Given the description of an element on the screen output the (x, y) to click on. 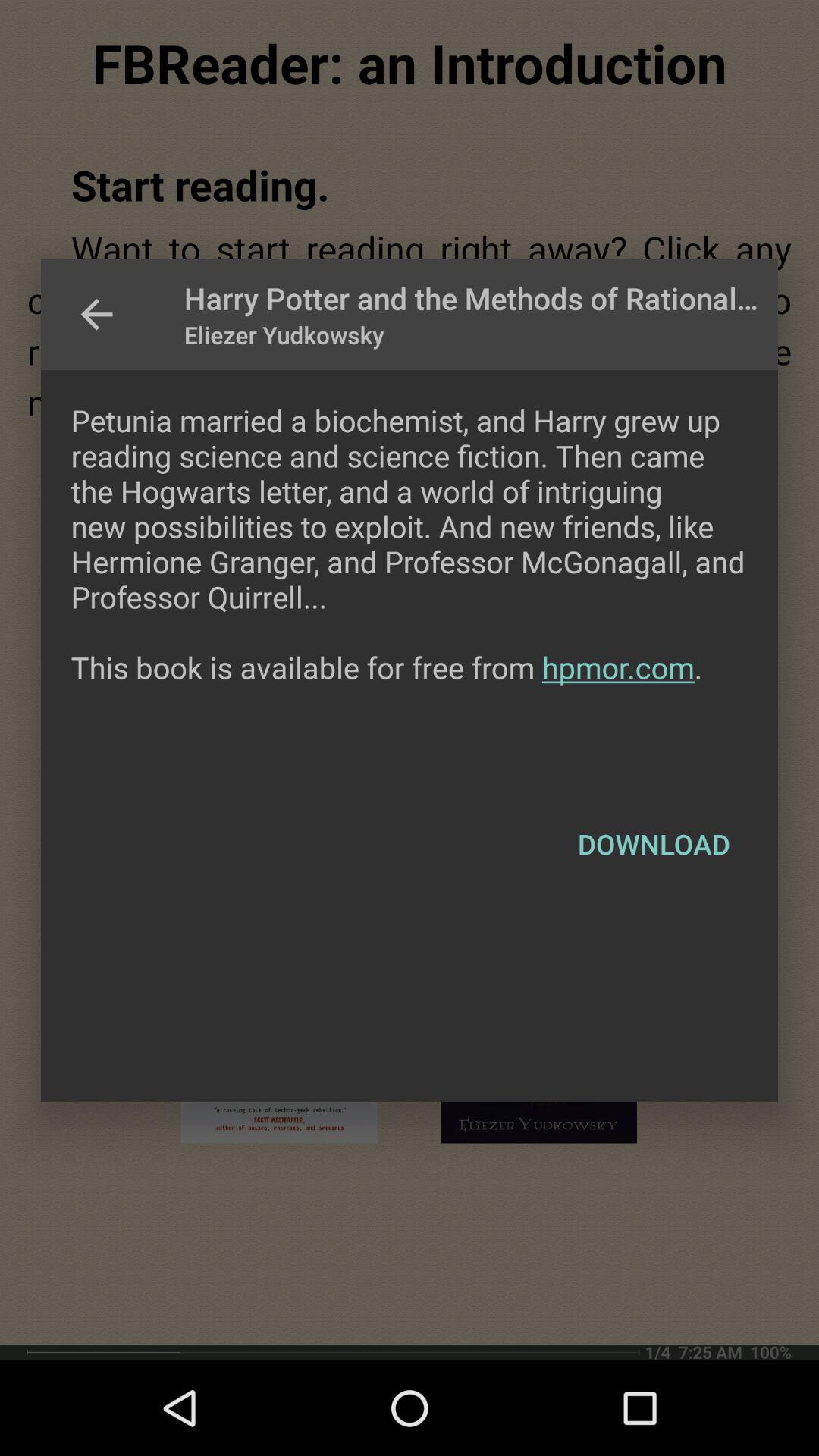
tap the icon above petunia married a item (96, 314)
